Given the description of an element on the screen output the (x, y) to click on. 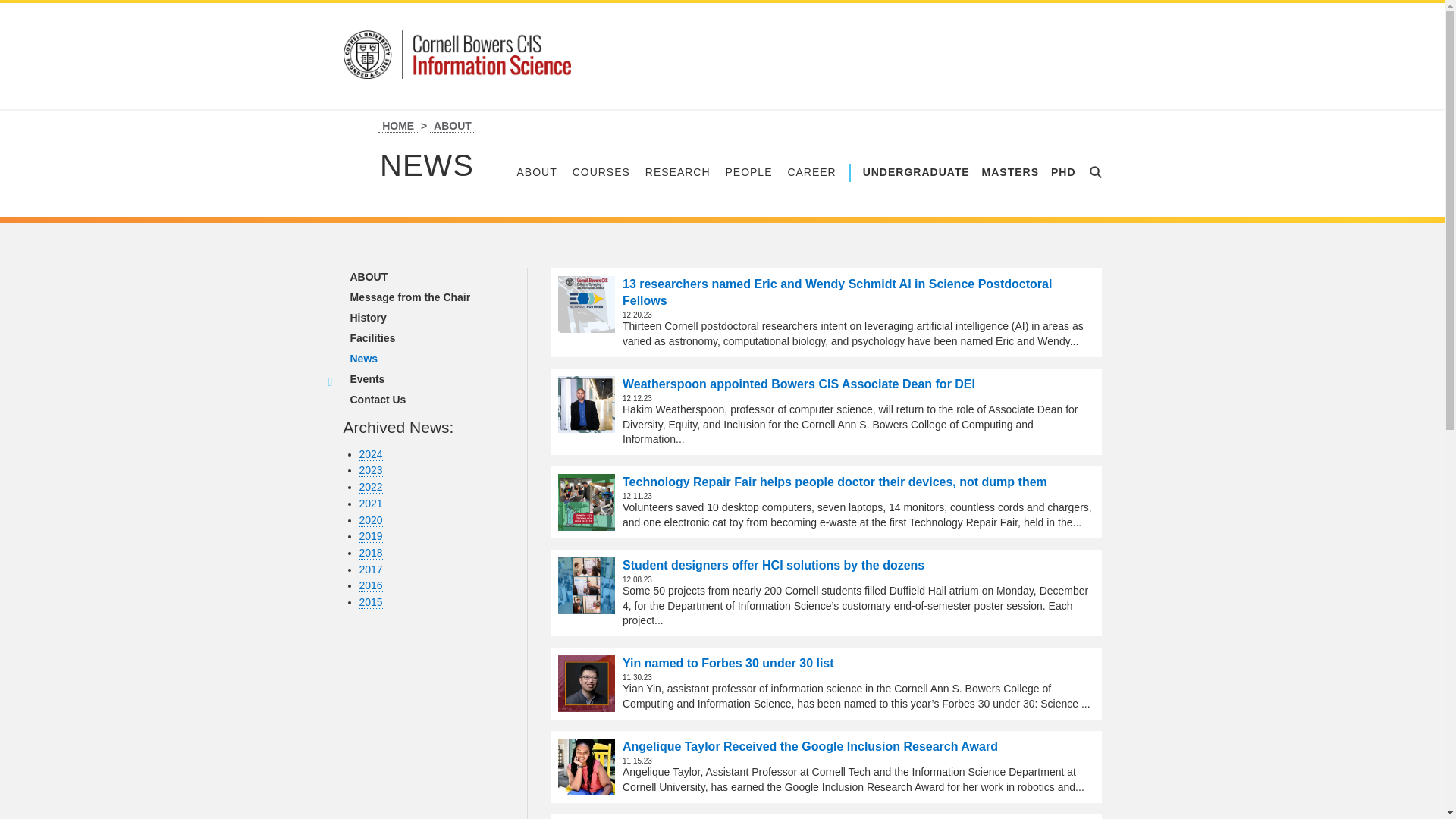
Weatherspoon appointed Bowers CIS Associate Dean for DEI (585, 404)
Student designers offer HCI solutions by the dozens (585, 585)
Yin named to Forbes 30 under 30 list (585, 683)
